Given the description of an element on the screen output the (x, y) to click on. 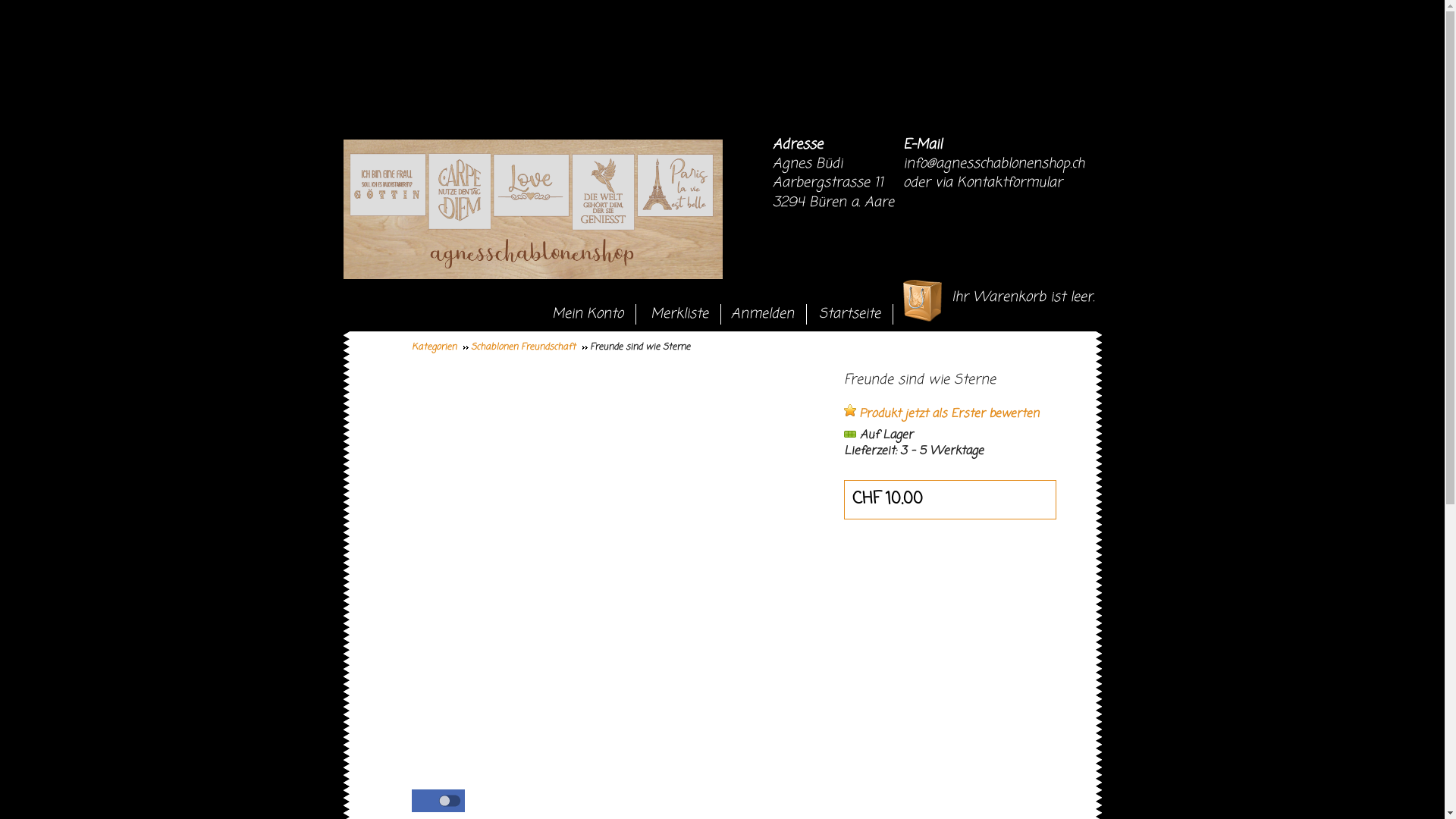
Anmelden Element type: text (766, 312)
Produkt jetzt als Erster bewerten Element type: text (940, 414)
Merkliste Element type: text (682, 312)
Startseite Element type: text (853, 312)
Kontaktformular Element type: text (1009, 182)
info@agnesschablonenshop.ch Element type: text (992, 163)
Schablonen Freundschaft Element type: text (528, 347)
Mein Konto Element type: text (591, 312)
Kategorien Element type: text (439, 347)
